Given the description of an element on the screen output the (x, y) to click on. 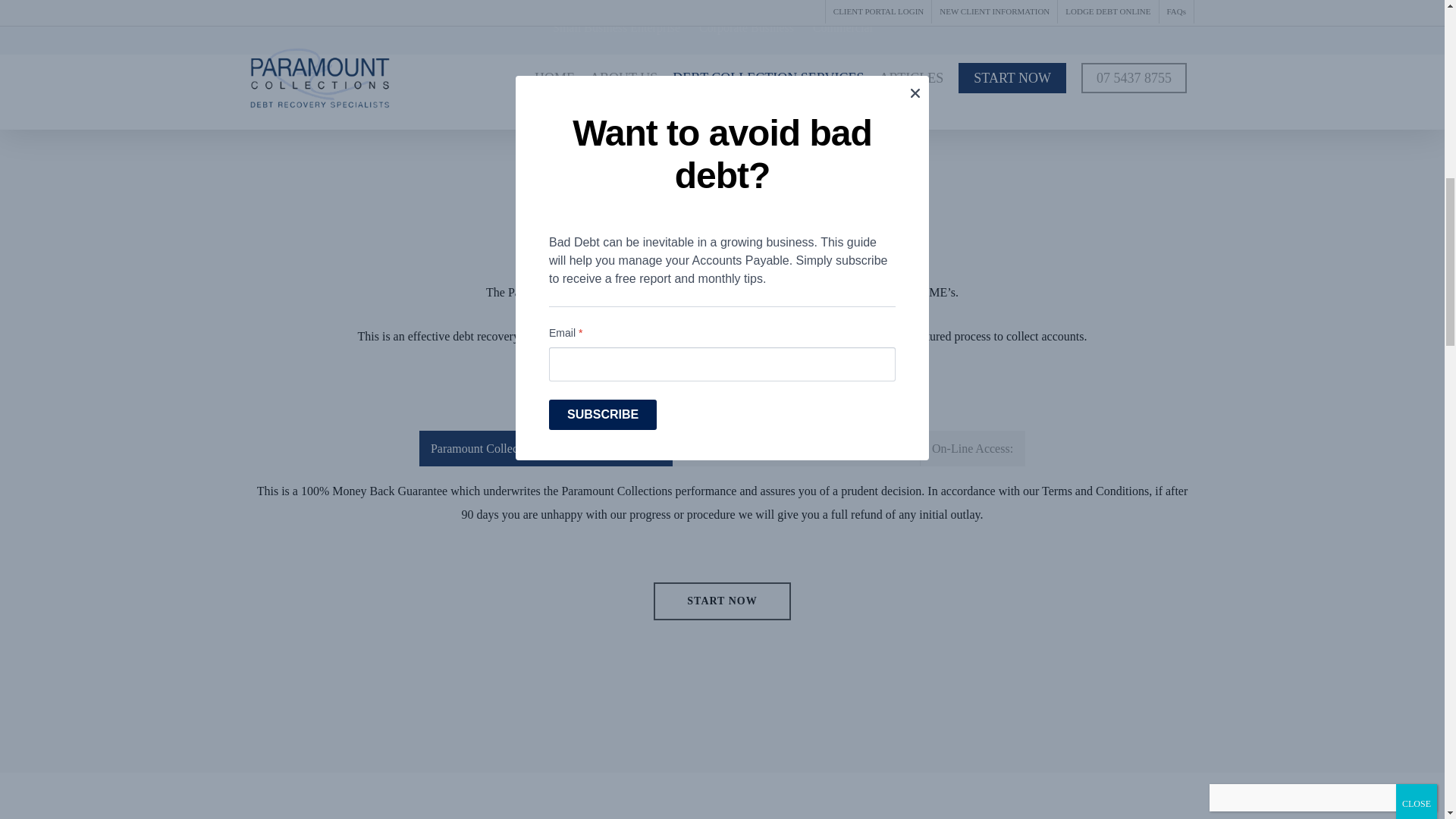
Paramount Collections Management Guarantee (545, 448)
Small Business Enterprise (616, 27)
Commercial (842, 27)
Corporate Business (745, 27)
START NOW (721, 600)
On-Line Access: (972, 448)
